Given the description of an element on the screen output the (x, y) to click on. 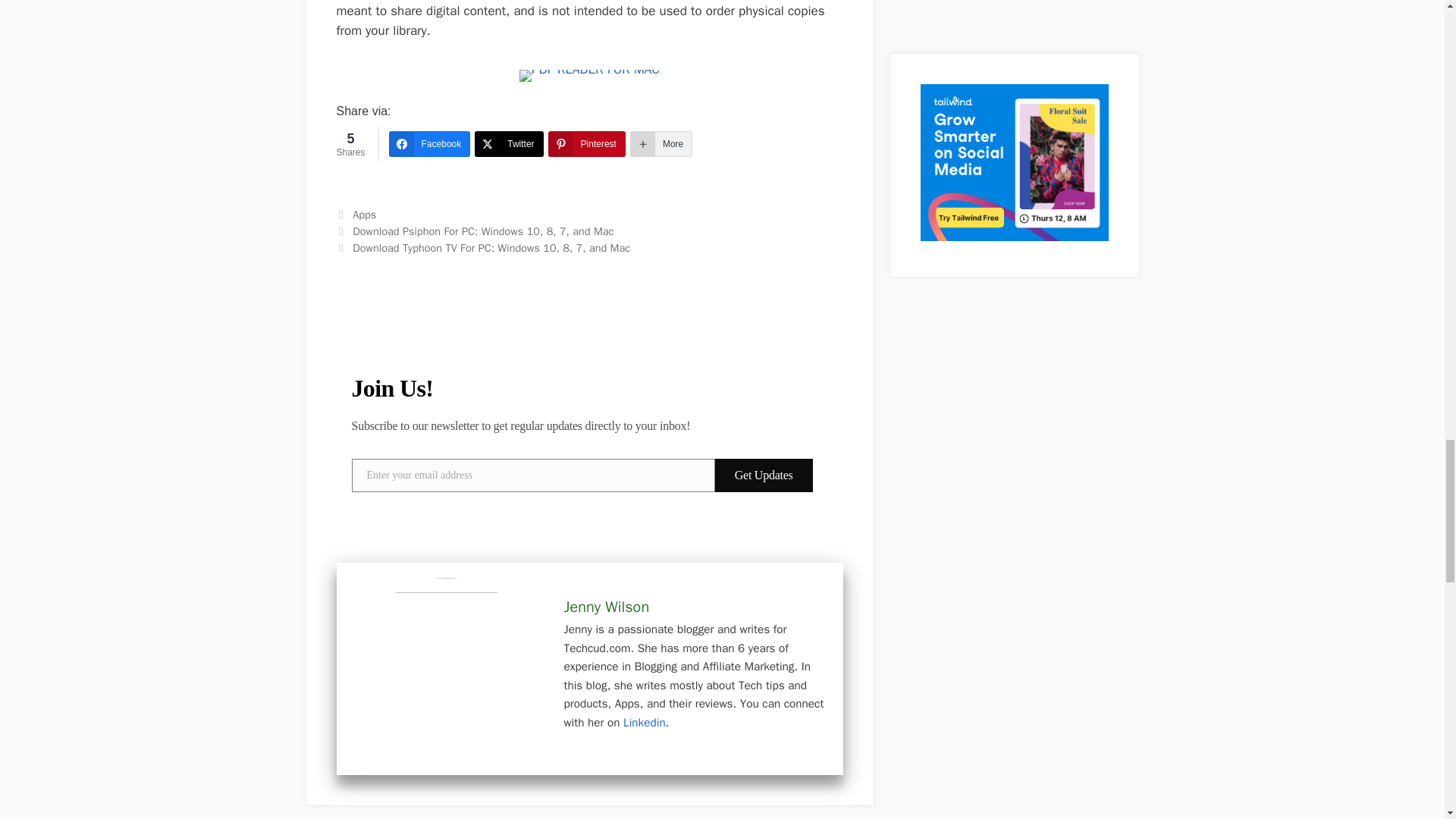
Pinterest (587, 144)
Download Psiphon For PC: Windows 10, 8, 7, and Mac (482, 231)
Twitter (508, 144)
Get Updates (763, 475)
More (661, 144)
Apps (363, 214)
Facebook (429, 144)
Download Typhoon TV For PC: Windows 10, 8, 7, and Mac (491, 247)
Linkedin (644, 722)
